Given the description of an element on the screen output the (x, y) to click on. 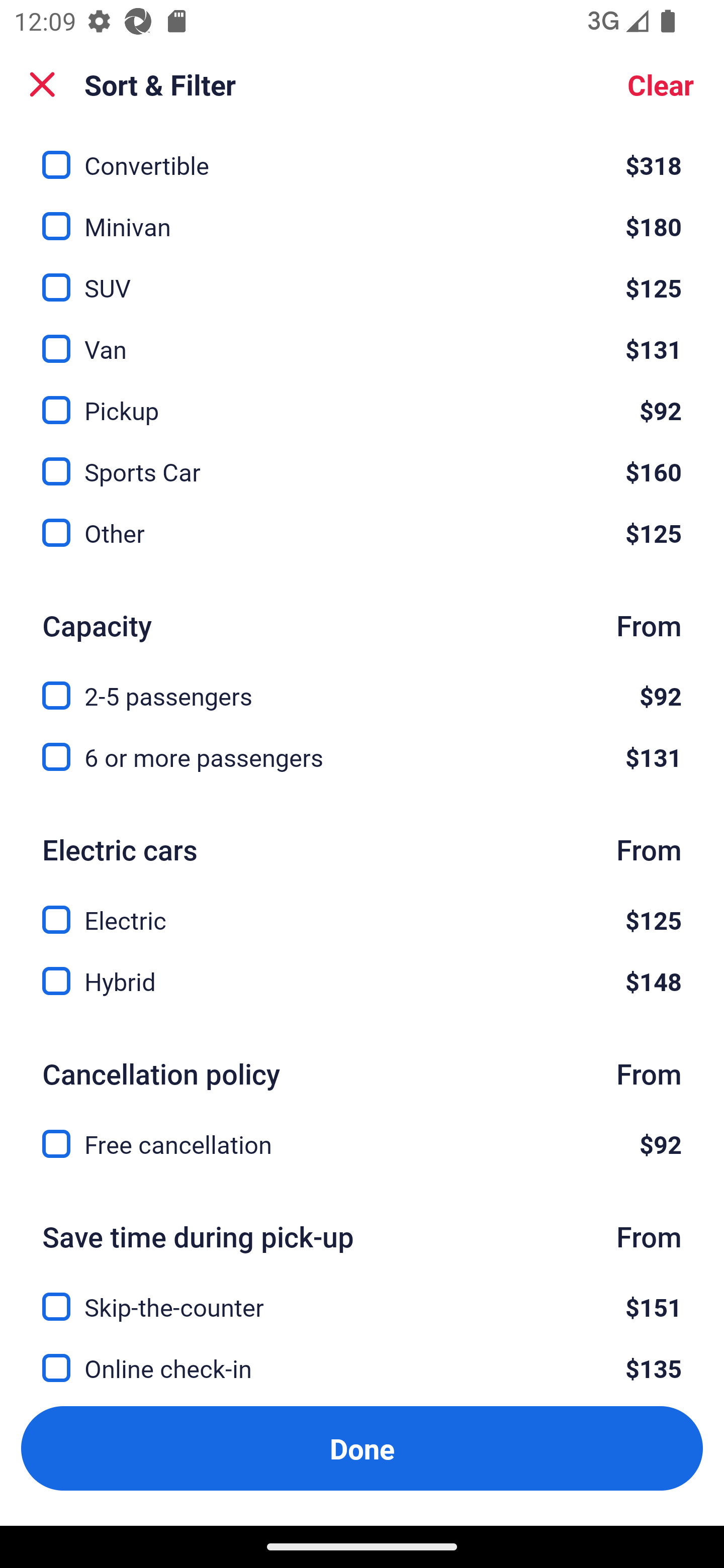
Close Sort and Filter (42, 84)
Clear (660, 84)
Convertible, $318 Convertible $318 (361, 156)
Minivan, $180 Minivan $180 (361, 215)
SUV, $125 SUV $125 (361, 276)
Van, $131 Van $131 (361, 337)
Pickup, $92 Pickup $92 (361, 398)
Sports Car, $160 Sports Car $160 (361, 459)
Other, $125 Other $125 (361, 532)
2-5 passengers, $92 2-5 passengers $92 (361, 684)
Electric, $125 Electric $125 (361, 908)
Hybrid, $148 Hybrid $148 (361, 981)
Free cancellation, $92 Free cancellation $92 (361, 1144)
Skip-the-counter, $151 Skip-the-counter $151 (361, 1295)
Online check-in, $135 Online check-in $135 (361, 1366)
Apply and close Sort and Filter Done (361, 1448)
